Given the description of an element on the screen output the (x, y) to click on. 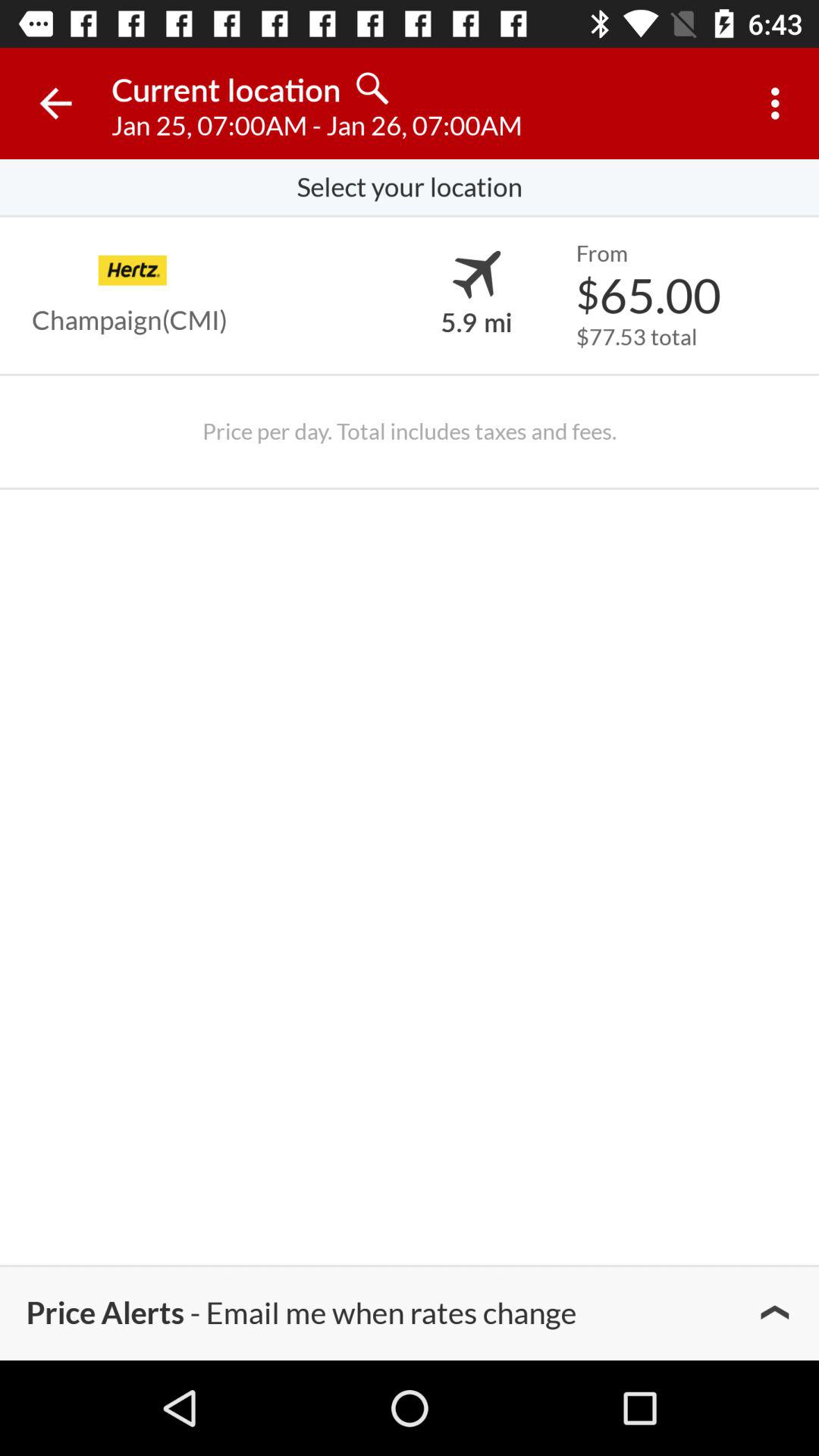
launch the item to the left of the current location item (55, 103)
